Given the description of an element on the screen output the (x, y) to click on. 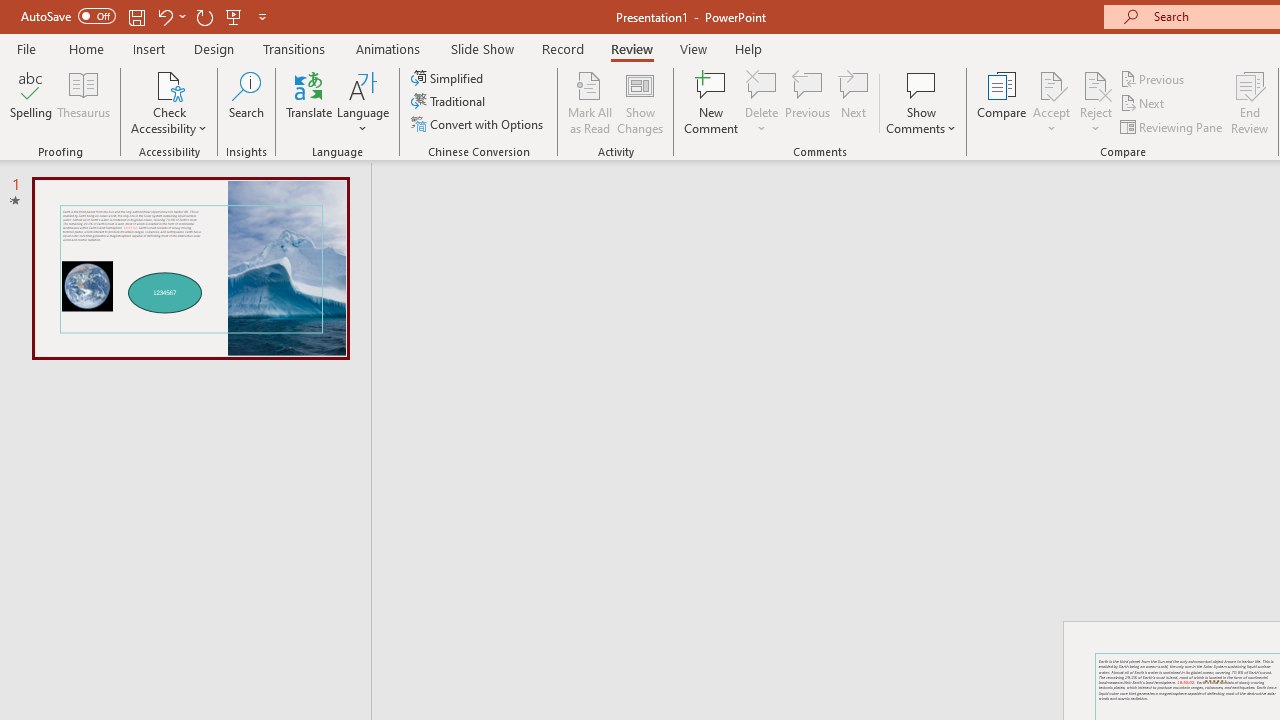
Reviewing Pane (1172, 126)
Show Changes (639, 102)
